Given the description of an element on the screen output the (x, y) to click on. 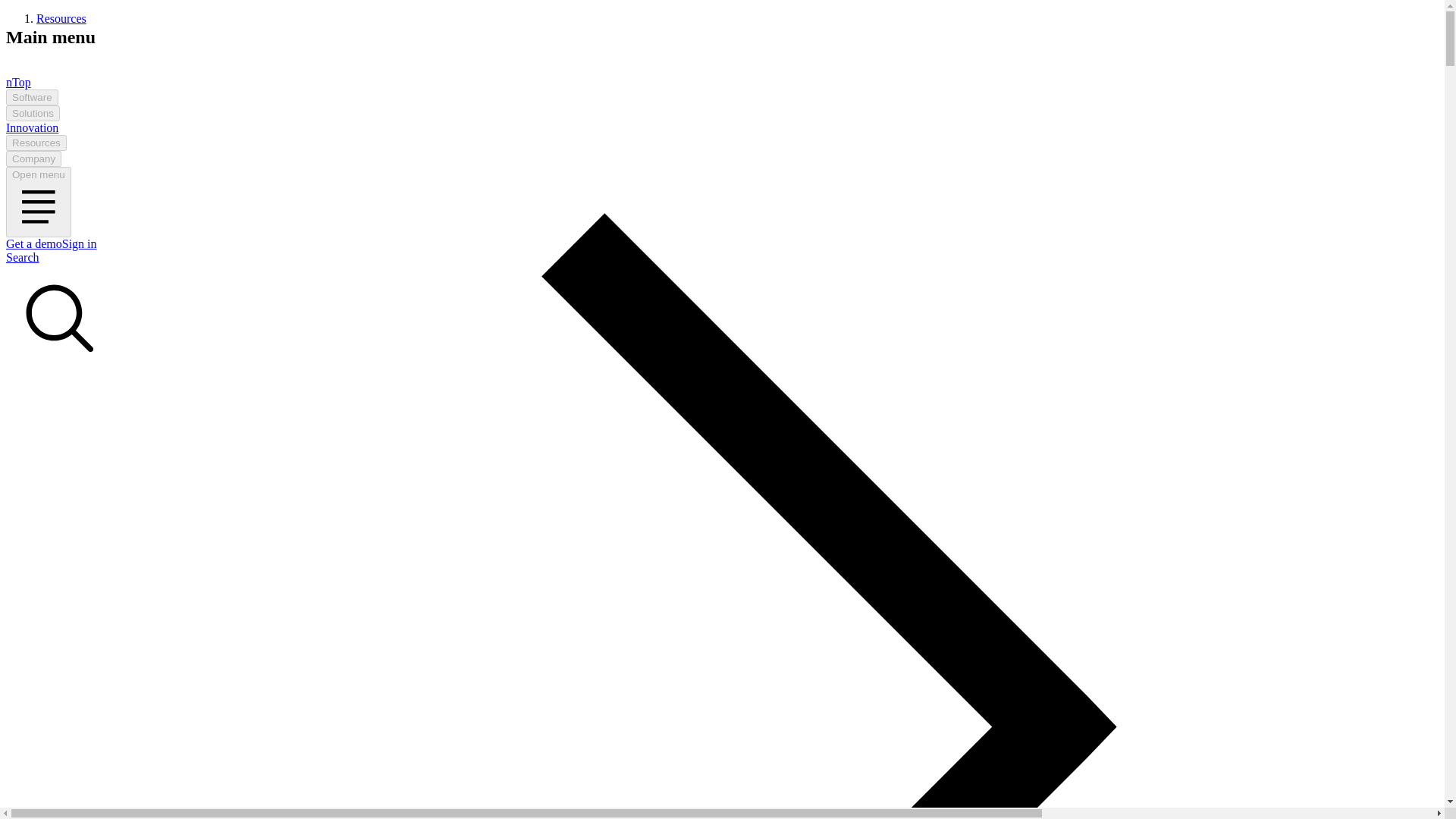
Solutions (32, 113)
nTop (59, 82)
Company (33, 158)
Resources (35, 142)
Resources (60, 18)
Sign in (79, 243)
Get a demo (33, 243)
Innovation (31, 127)
Search (59, 312)
Open menu (38, 202)
Software (31, 97)
